Given the description of an element on the screen output the (x, y) to click on. 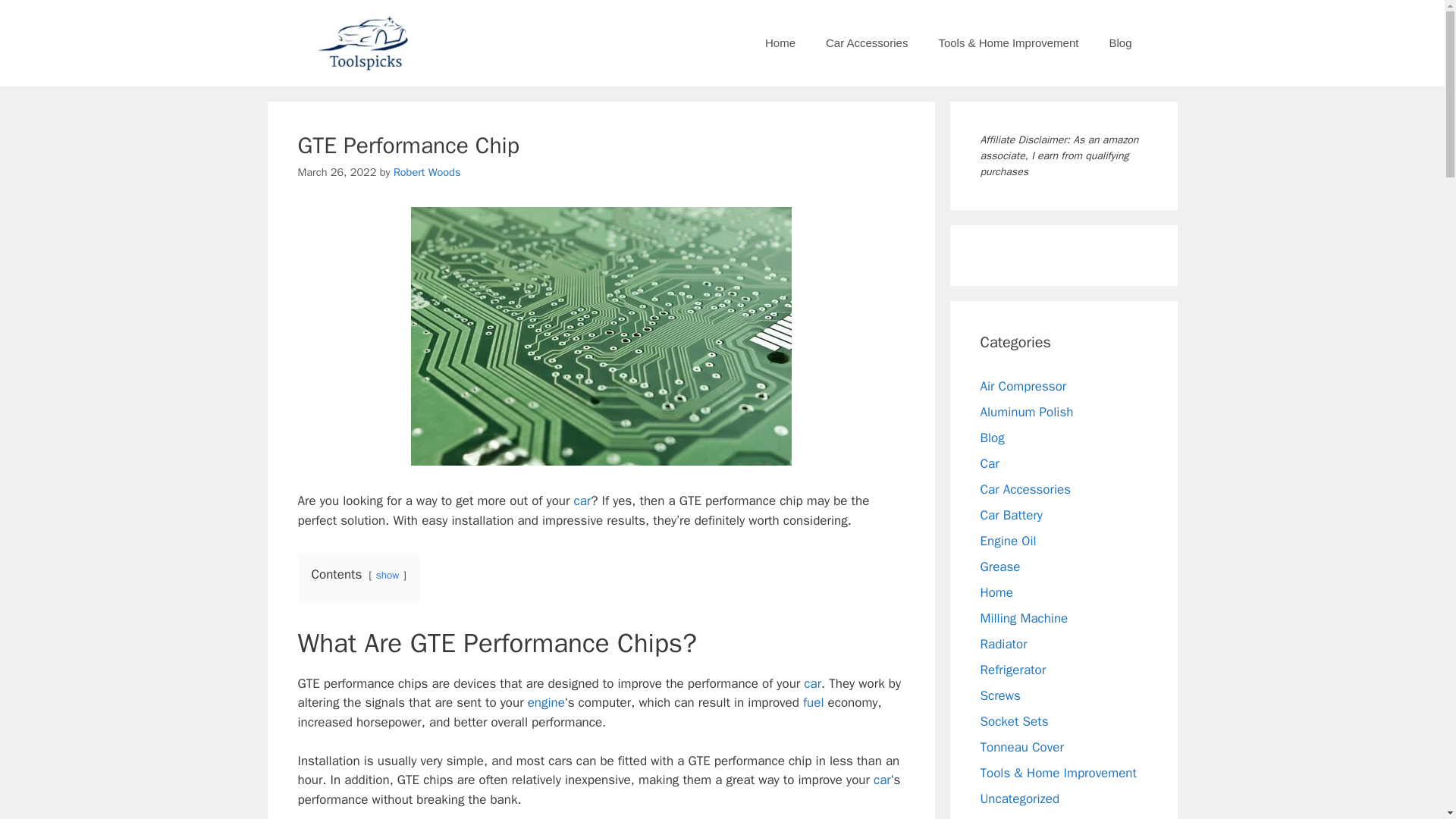
Car Accessories (866, 43)
Robert Woods (427, 172)
Home (779, 43)
car (812, 683)
car (882, 779)
View all posts by Robert Woods (427, 172)
car (582, 500)
fuel (813, 702)
Blog (1120, 43)
show (386, 574)
engine (545, 702)
